Given the description of an element on the screen output the (x, y) to click on. 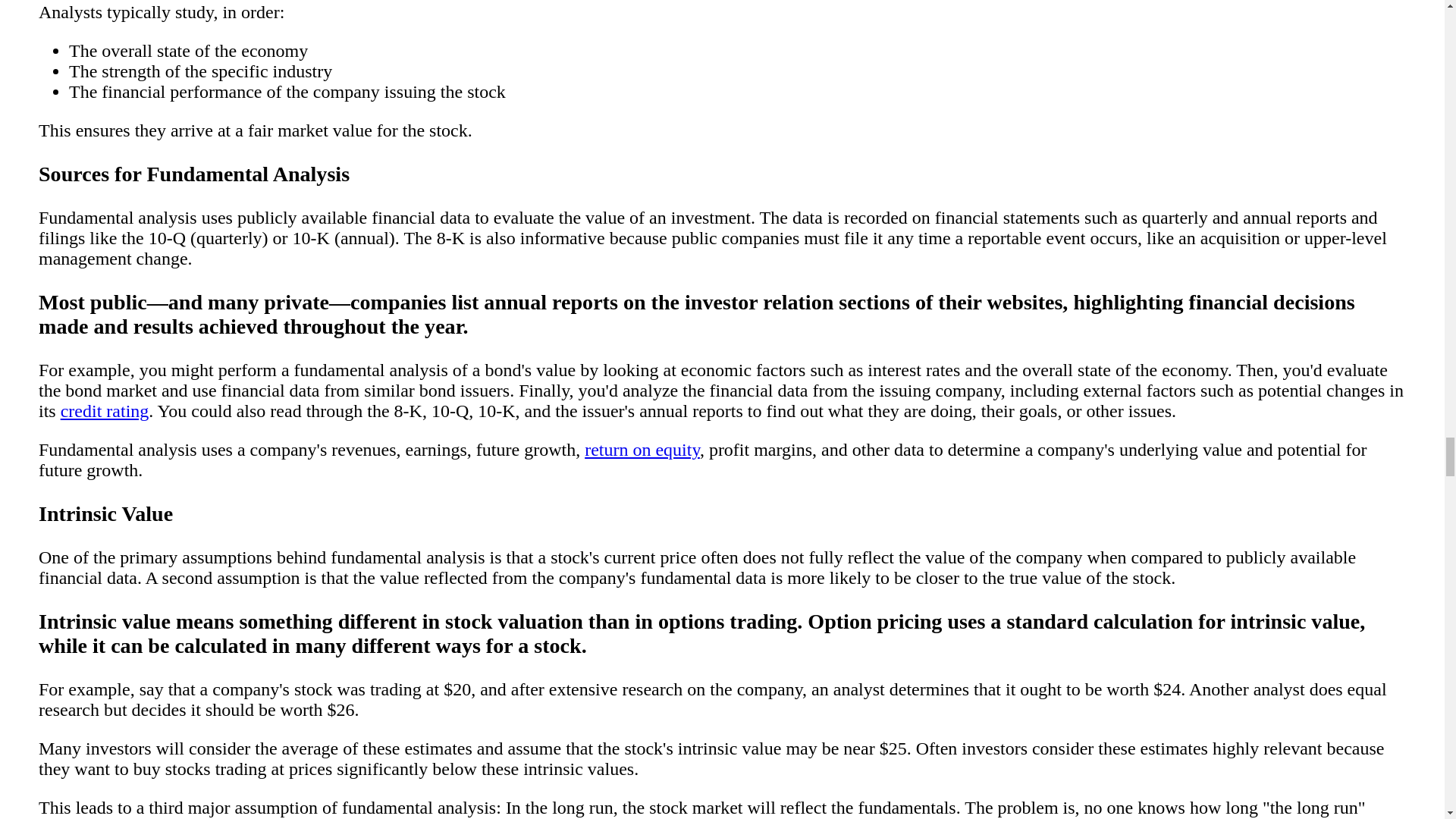
credit rating (105, 410)
return on equity (642, 449)
